Given the description of an element on the screen output the (x, y) to click on. 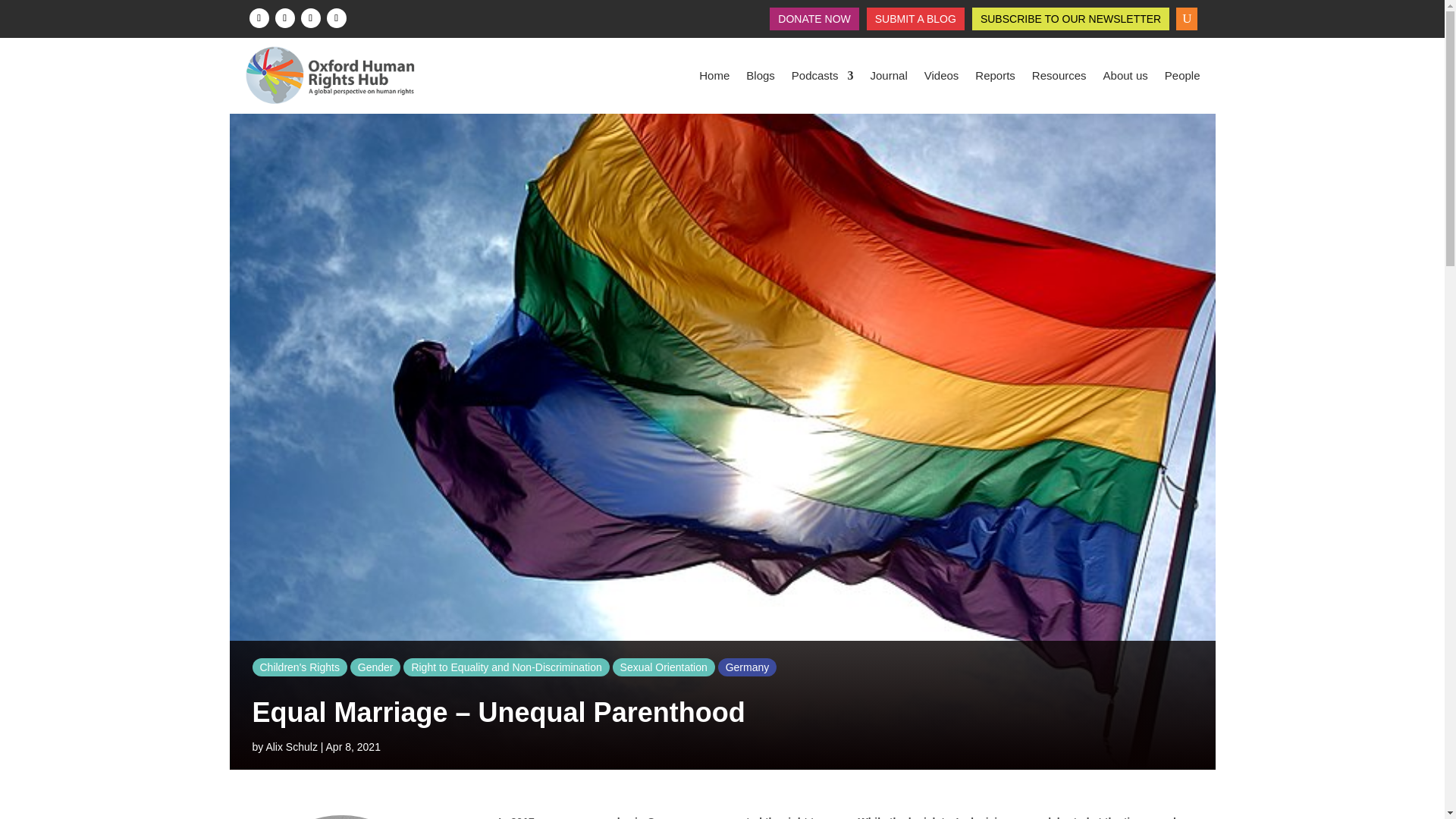
DONATE NOW (813, 21)
Right to Equality and Non-Discrimination (505, 667)
People (1181, 75)
Gender (375, 667)
Podcasts (822, 75)
Videos (941, 75)
Alix Schulz (290, 746)
Follow on LinkedIn (309, 17)
Follow on Facebook (257, 17)
Resources (1059, 75)
